Given the description of an element on the screen output the (x, y) to click on. 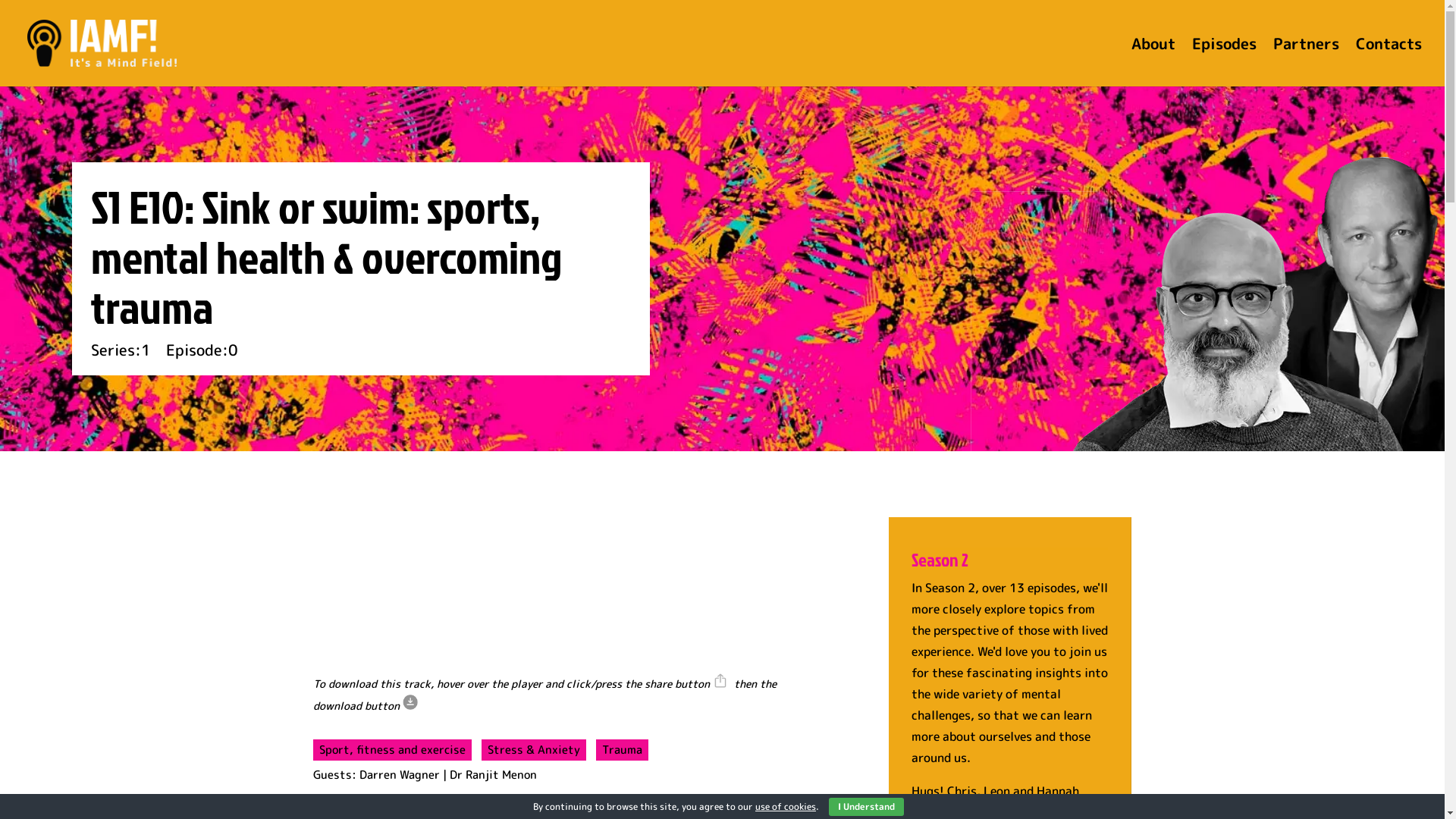
Trauma Element type: text (622, 749)
About Element type: text (1153, 61)
Partners Element type: text (1306, 61)
Stress & Anxiety Element type: text (532, 749)
Dr Ranjit Menon Element type: text (492, 774)
Darren Wagner Element type: text (399, 774)
Contacts Element type: text (1388, 61)
Episodes Element type: text (1224, 61)
use of cookies Element type: text (785, 806)
Sport, fitness and exercise Element type: text (391, 749)
I Understand Element type: text (865, 806)
